Given the description of an element on the screen output the (x, y) to click on. 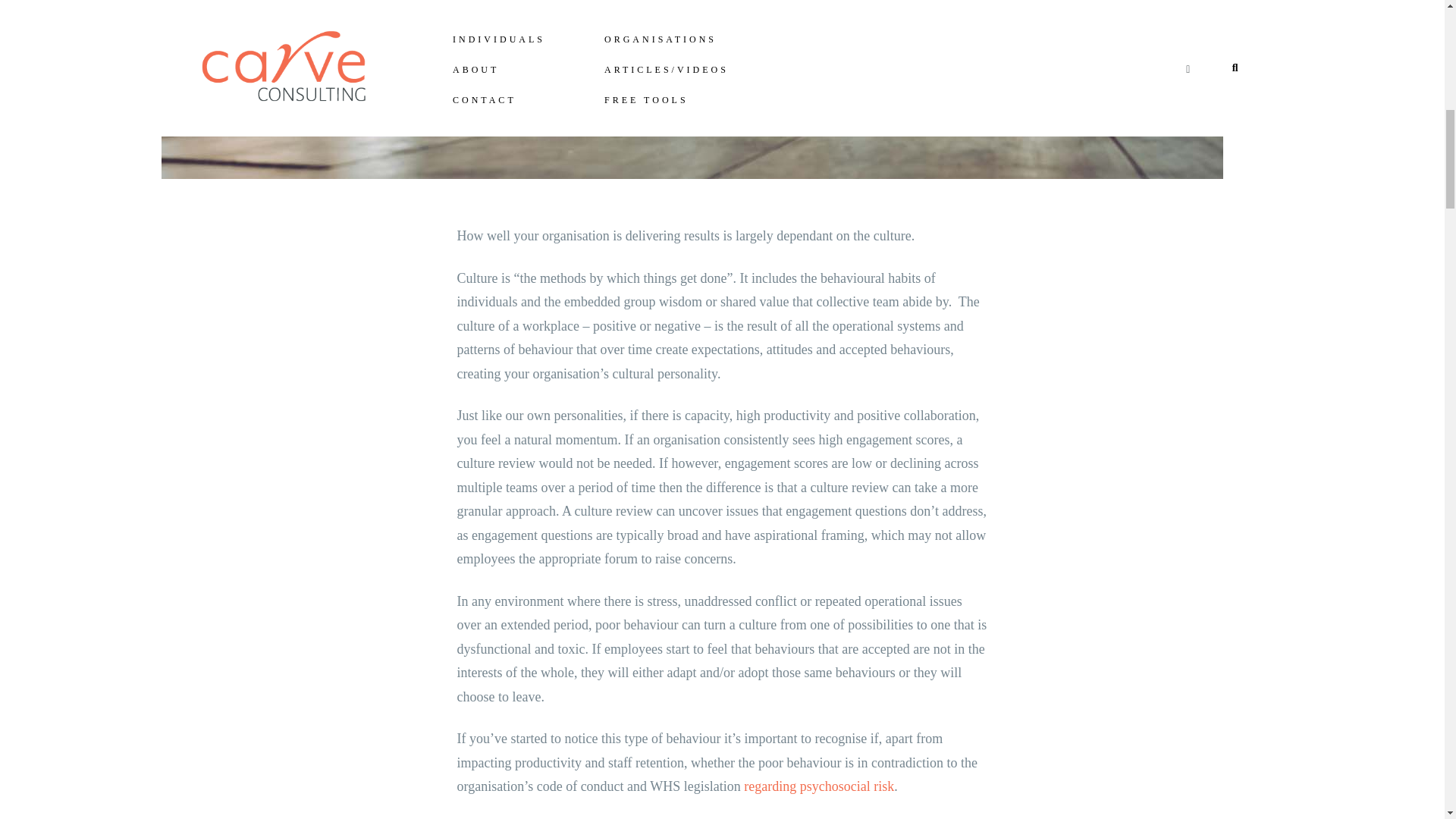
regarding psychosocial risk (818, 785)
